Given the description of an element on the screen output the (x, y) to click on. 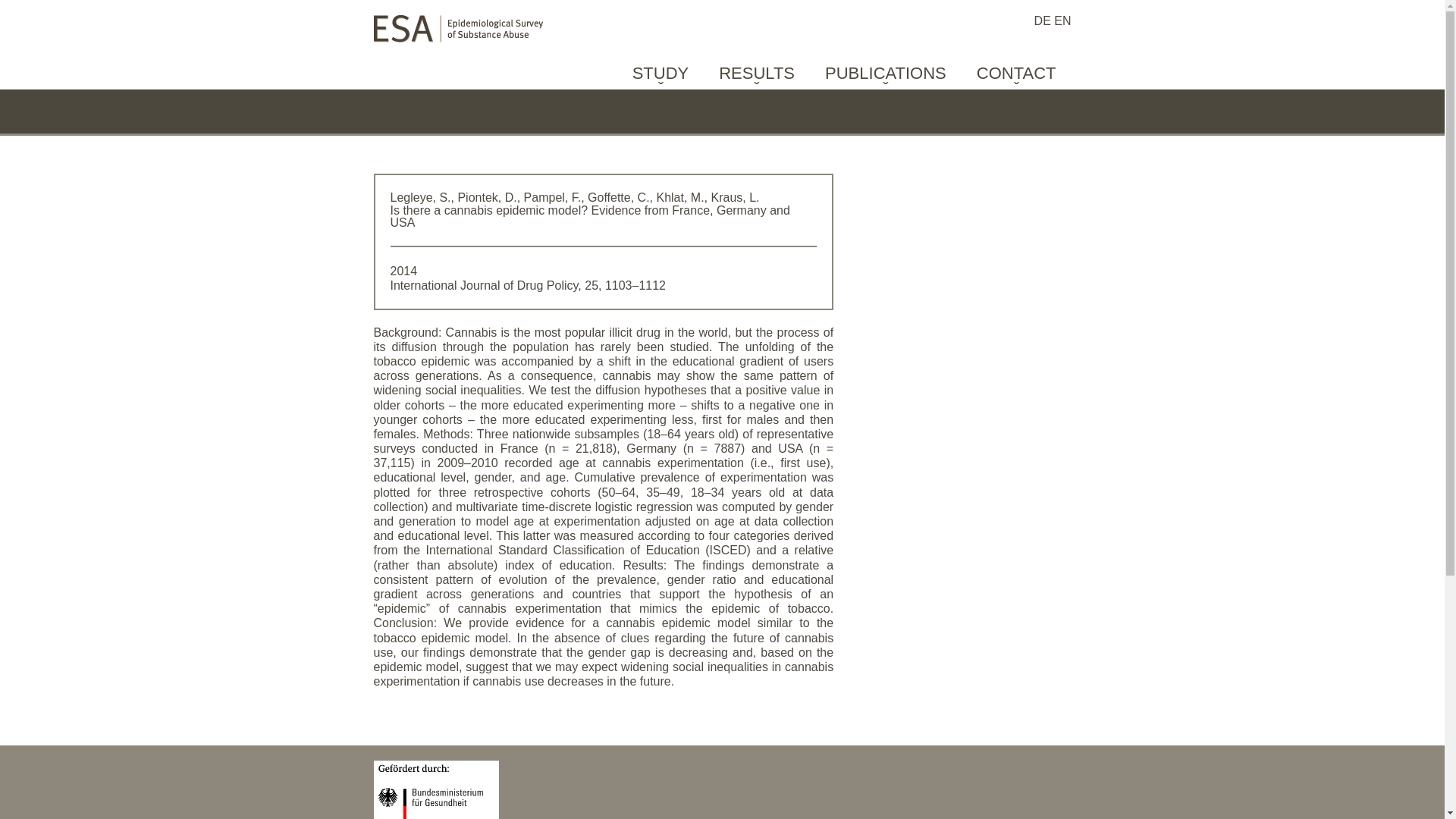
English (1062, 20)
EN (1062, 20)
Deutsch (1043, 20)
DE (1043, 20)
